Given the description of an element on the screen output the (x, y) to click on. 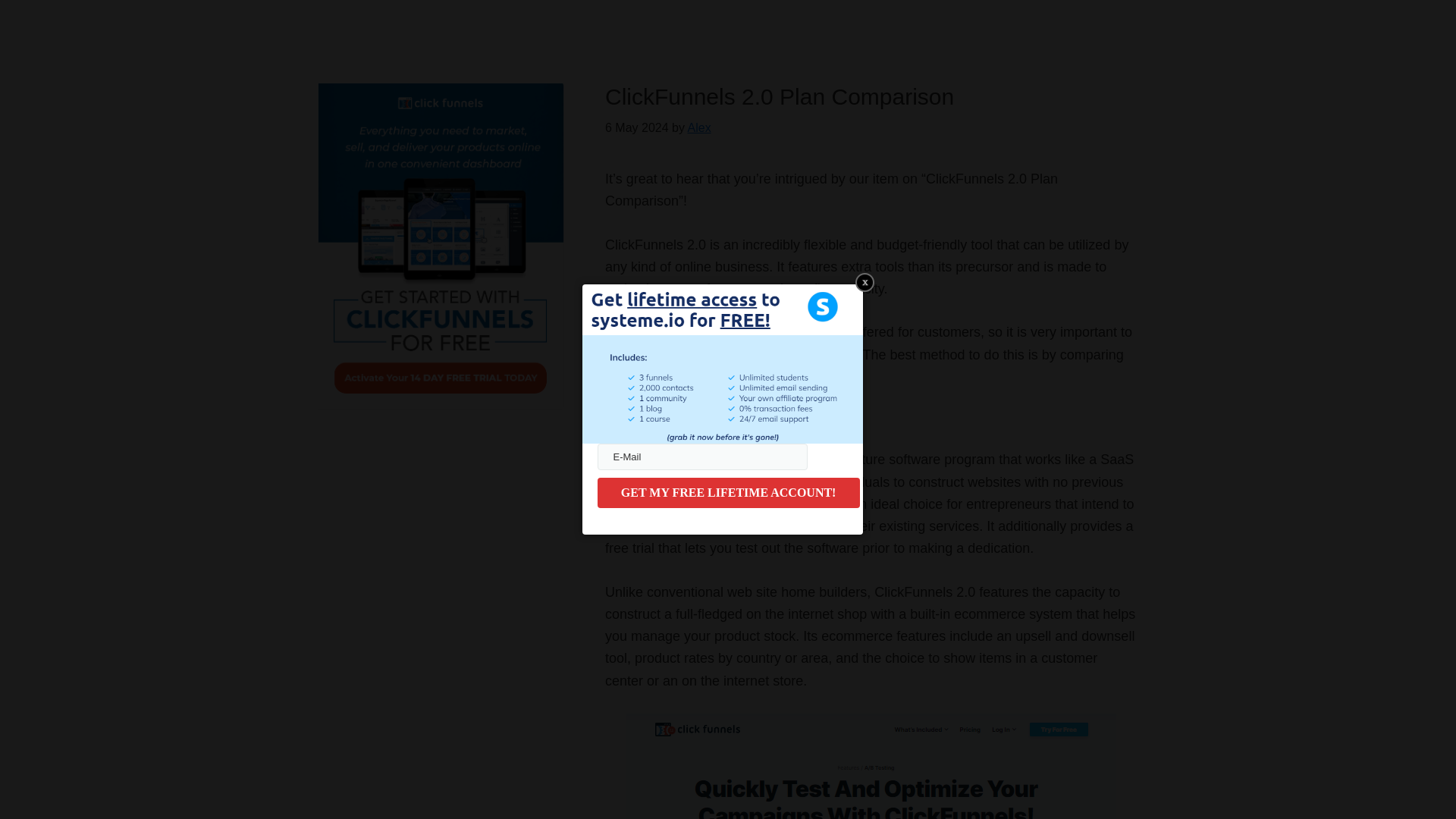
Alex (699, 127)
GET MY FREE LIFETIME ACCOUNT! (728, 492)
GET MY FREE LIFETIME ACCOUNT! (728, 492)
